Given the description of an element on the screen output the (x, y) to click on. 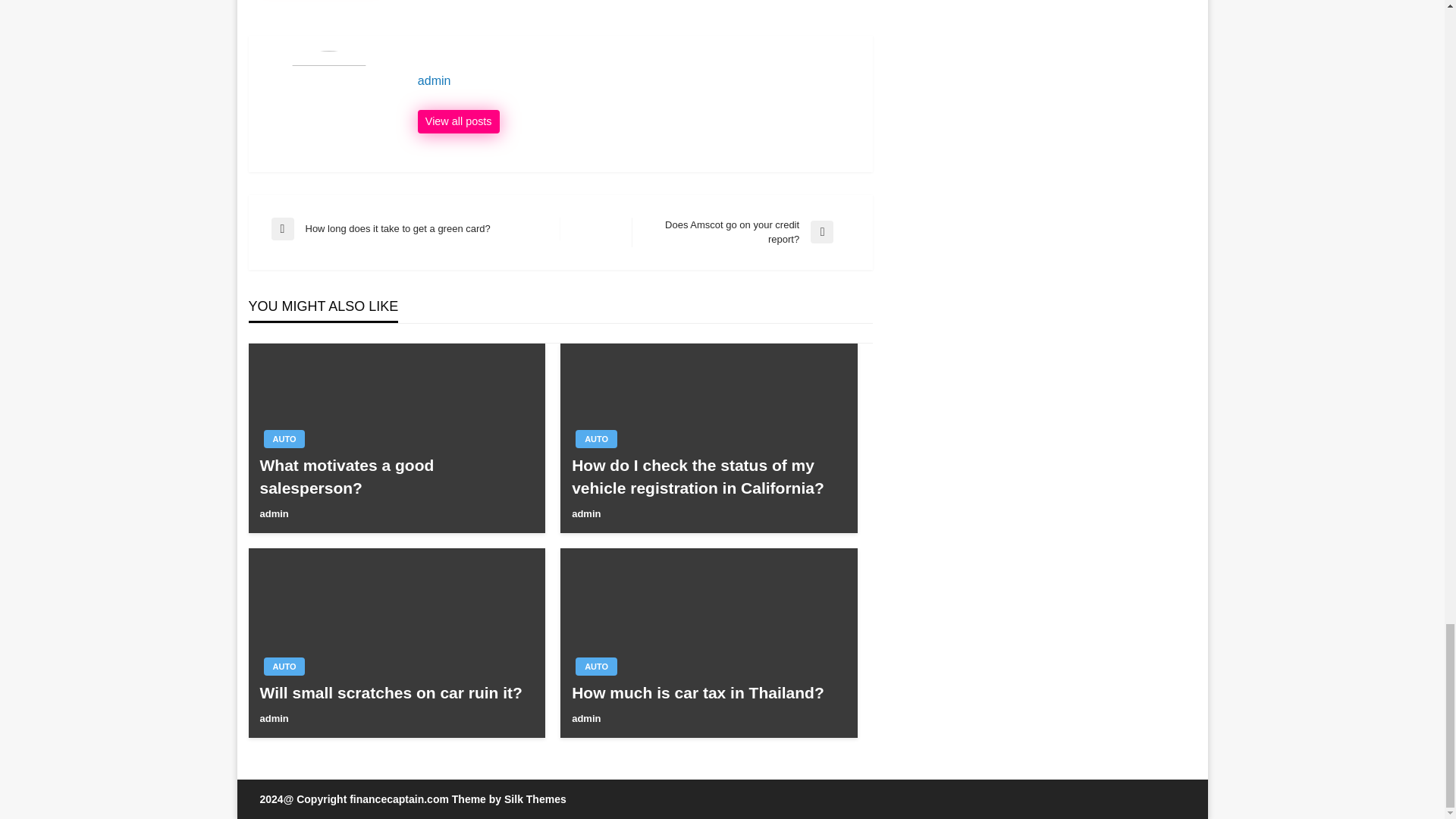
How much is car tax in Thailand? (708, 692)
admin (273, 717)
Will small scratches on car ruin it? (396, 692)
AUTO (284, 438)
admin (273, 513)
admin (585, 717)
AUTO (596, 438)
View all posts (458, 121)
admin (637, 80)
AUTO (596, 666)
admin (458, 121)
AUTO (740, 232)
admin (284, 666)
